Given the description of an element on the screen output the (x, y) to click on. 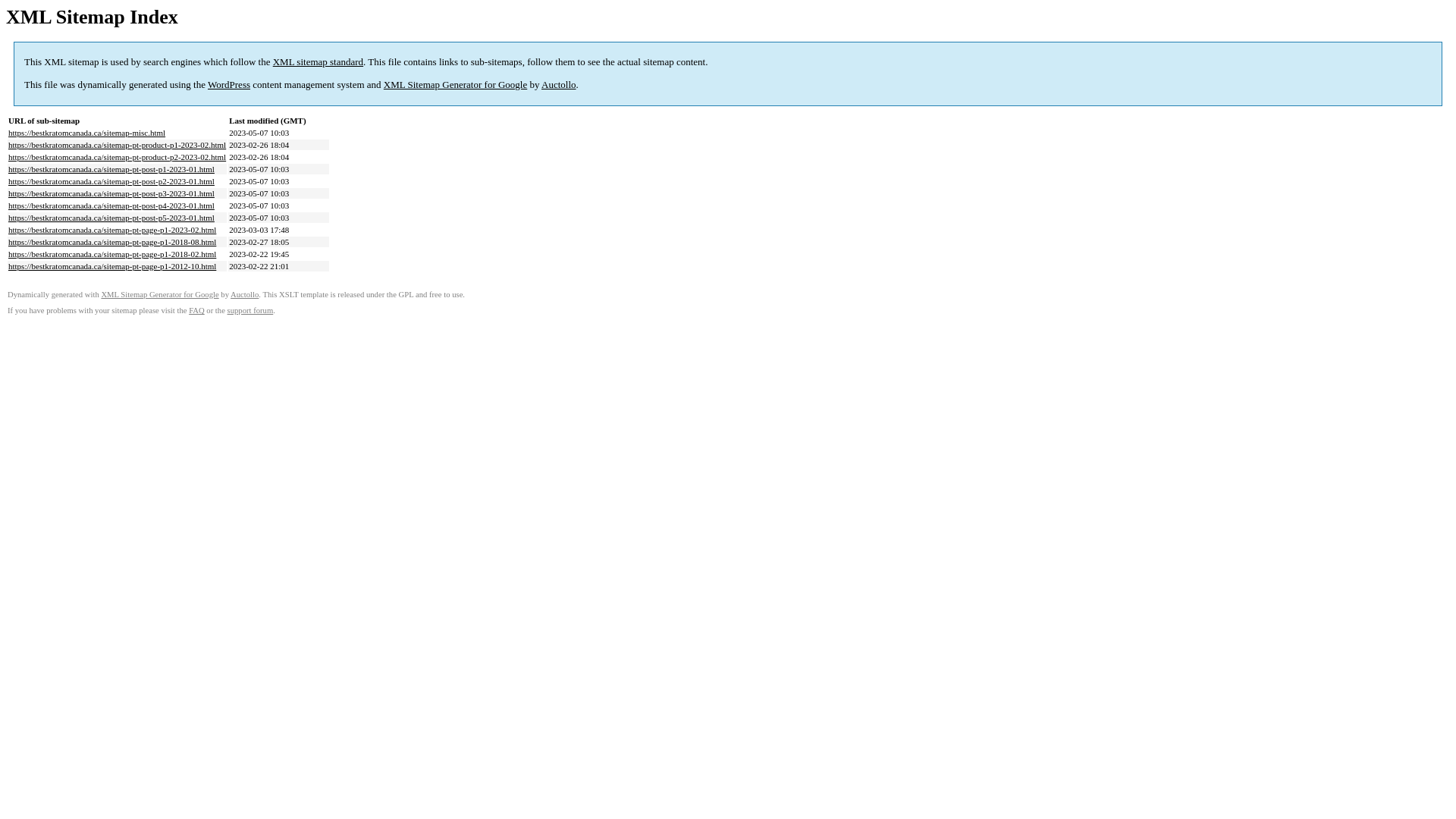
Auctollo Element type: text (558, 84)
https://bestkratomcanada.ca/sitemap-misc.html Element type: text (86, 132)
https://bestkratomcanada.ca/sitemap-pt-page-p1-2018-08.html Element type: text (112, 241)
https://bestkratomcanada.ca/sitemap-pt-page-p1-2023-02.html Element type: text (112, 229)
https://bestkratomcanada.ca/sitemap-pt-post-p1-2023-01.html Element type: text (111, 168)
https://bestkratomcanada.ca/sitemap-pt-page-p1-2018-02.html Element type: text (112, 253)
XML Sitemap Generator for Google Element type: text (159, 294)
https://bestkratomcanada.ca/sitemap-pt-post-p5-2023-01.html Element type: text (111, 217)
https://bestkratomcanada.ca/sitemap-pt-page-p1-2012-10.html Element type: text (112, 265)
WordPress Element type: text (228, 84)
support forum Element type: text (250, 310)
FAQ Element type: text (196, 310)
Auctollo Element type: text (244, 294)
XML sitemap standard Element type: text (318, 61)
https://bestkratomcanada.ca/sitemap-pt-post-p4-2023-01.html Element type: text (111, 205)
https://bestkratomcanada.ca/sitemap-pt-post-p2-2023-01.html Element type: text (111, 180)
XML Sitemap Generator for Google Element type: text (455, 84)
https://bestkratomcanada.ca/sitemap-pt-post-p3-2023-01.html Element type: text (111, 192)
